Given the description of an element on the screen output the (x, y) to click on. 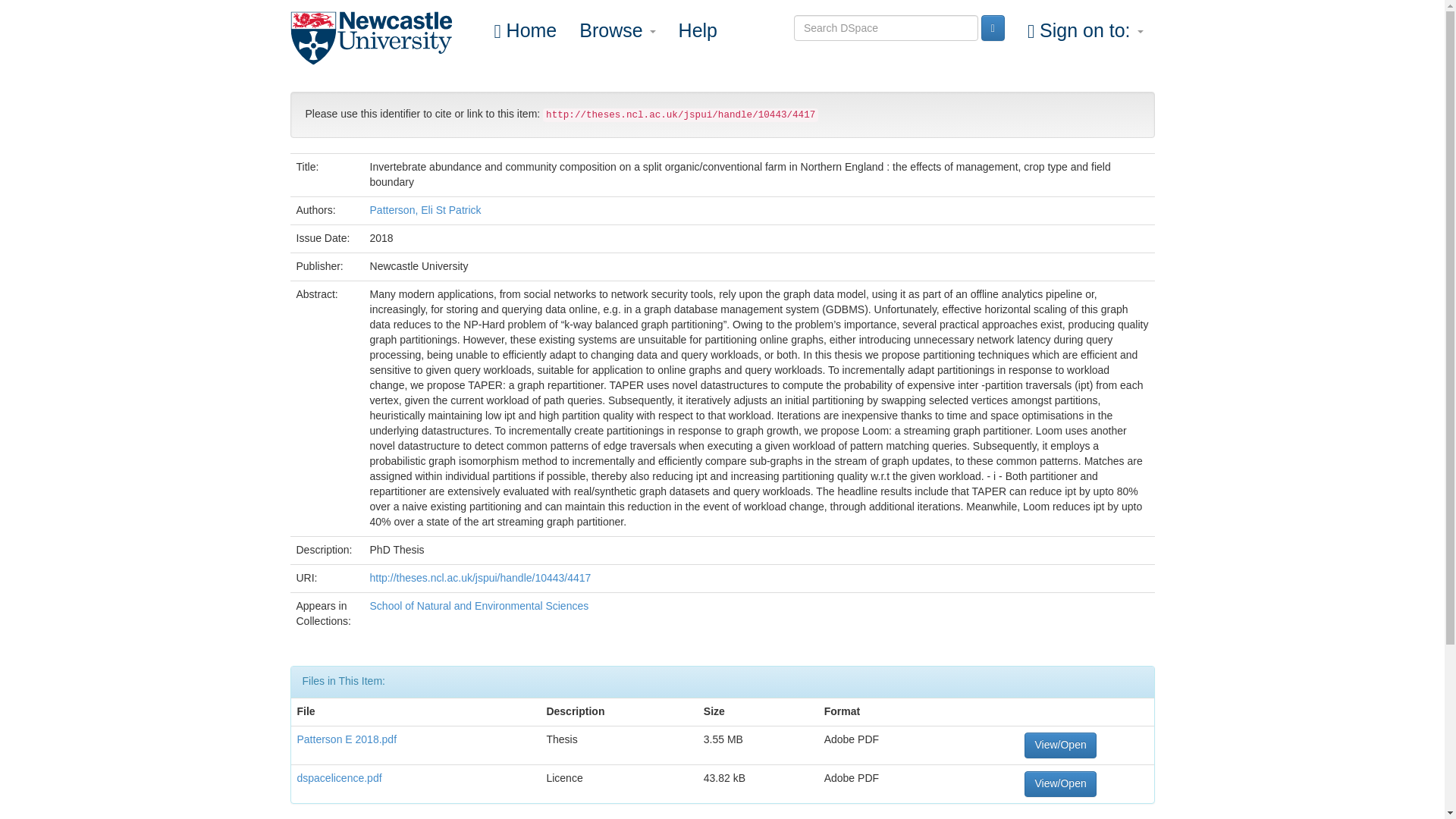
Home (524, 30)
Patterson, Eli St Patrick (425, 209)
dspacelicence.pdf (339, 777)
Browse (616, 30)
Help (697, 30)
Sign on to: (1085, 30)
Patterson E 2018.pdf (347, 739)
School of Natural and Environmental Sciences (479, 605)
